Given the description of an element on the screen output the (x, y) to click on. 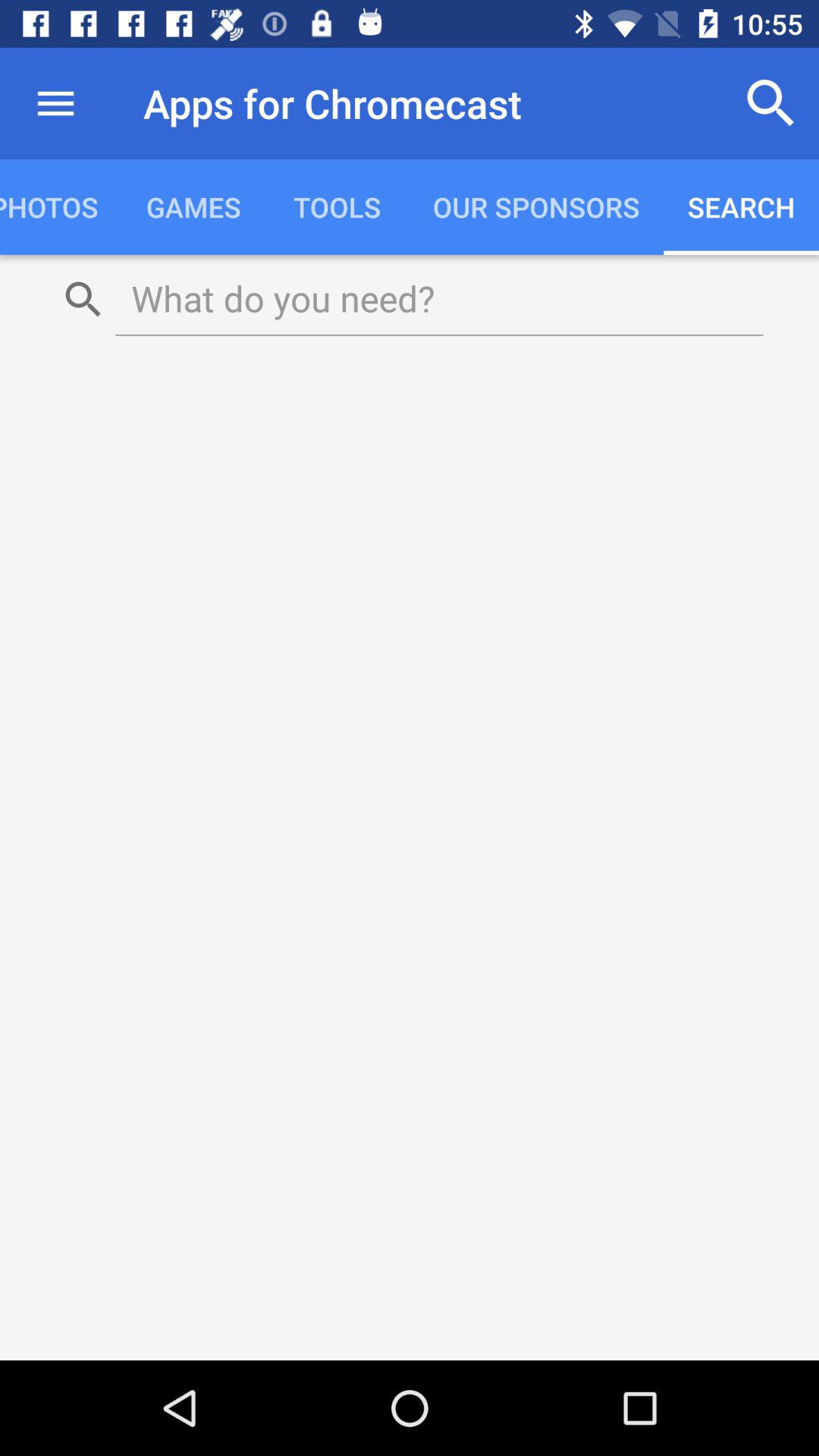
click the icon to the left of the apps for chromecast icon (55, 103)
